Given the description of an element on the screen output the (x, y) to click on. 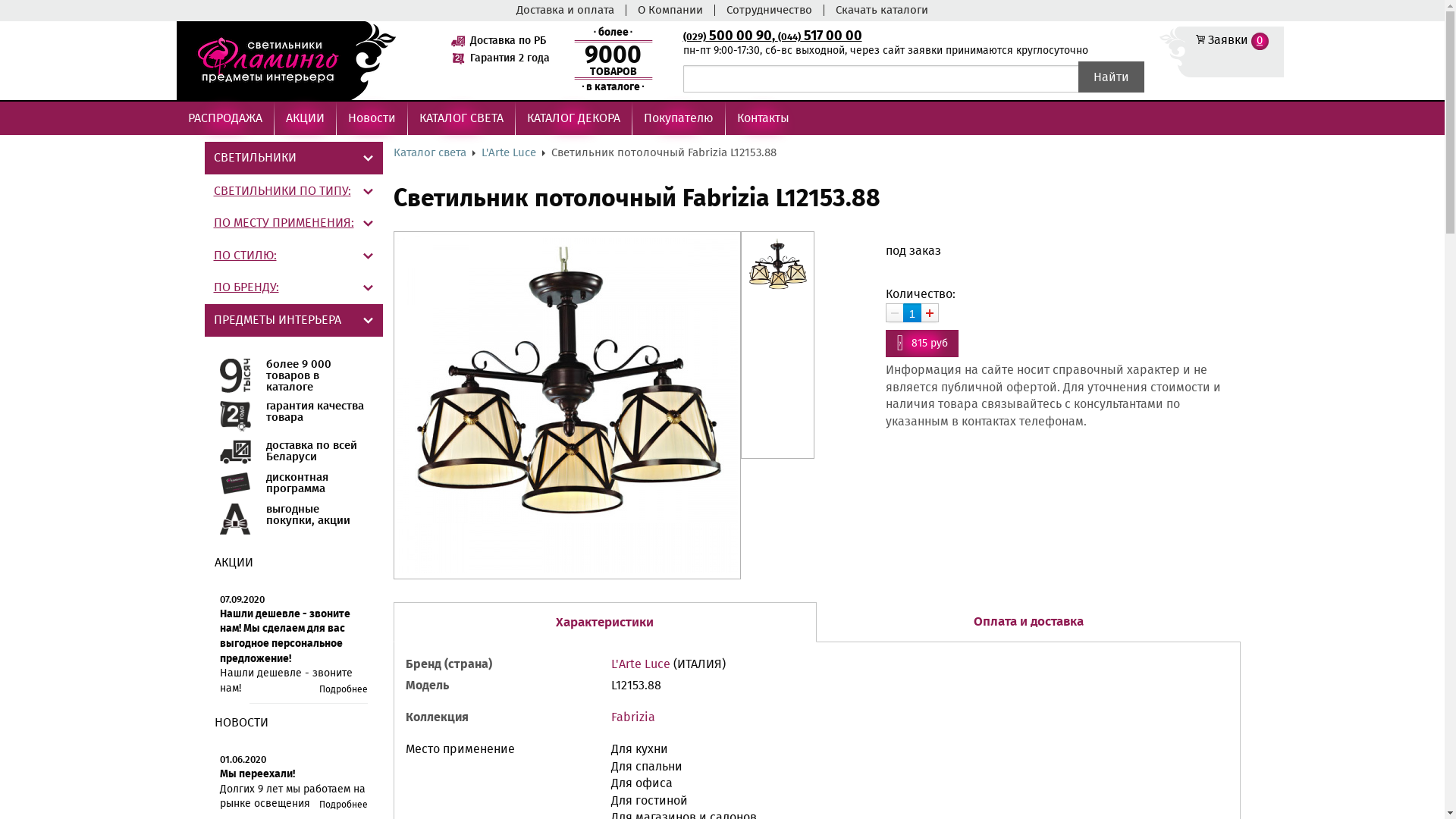
- Element type: text (894, 312)
0 Element type: text (1259, 41)
L'Arte Luce Element type: text (640, 663)
(029) 500 00 90 Element type: text (726, 35)
(044) 517 00 00 Element type: text (820, 35)
Fabrizia Element type: text (633, 716)
+ Element type: text (929, 312)
click to zoom-in Element type: hover (566, 568)
L'Arte Luce Element type: text (507, 152)
